Given the description of an element on the screen output the (x, y) to click on. 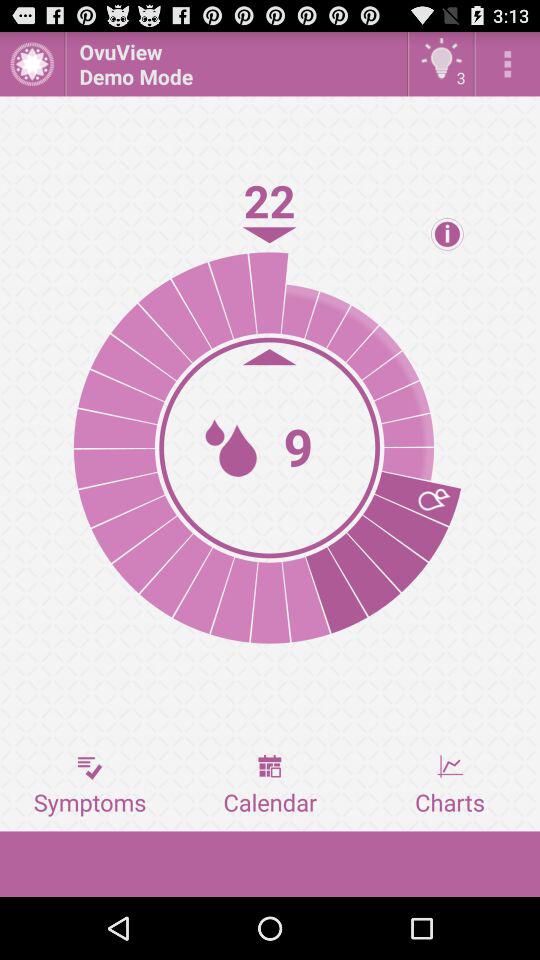
launch icon to the left of the charts (270, 785)
